Given the description of an element on the screen output the (x, y) to click on. 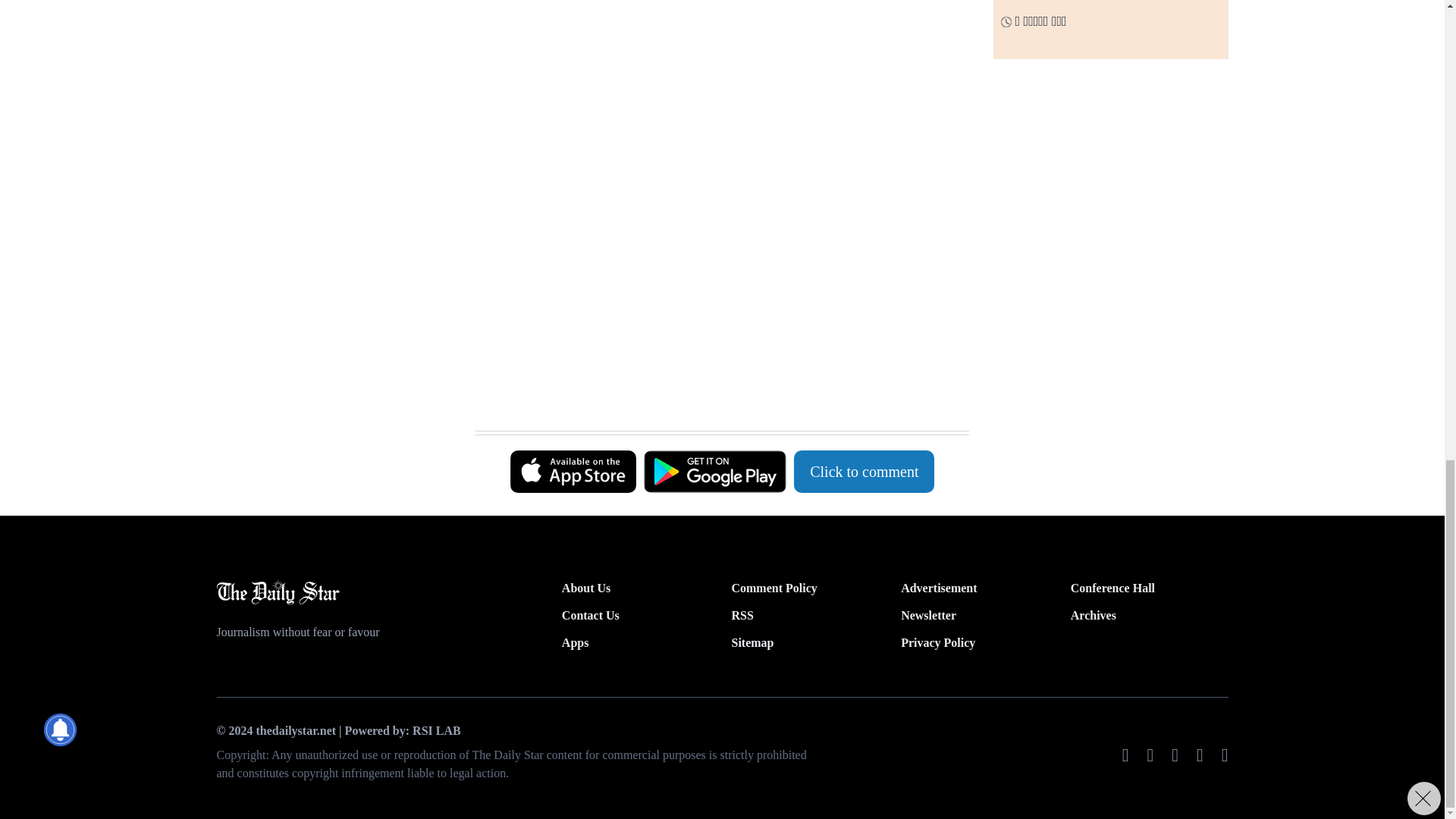
3rd party ad content (714, 392)
3rd party ad content (713, 71)
3rd party ad content (713, 252)
